Given the description of an element on the screen output the (x, y) to click on. 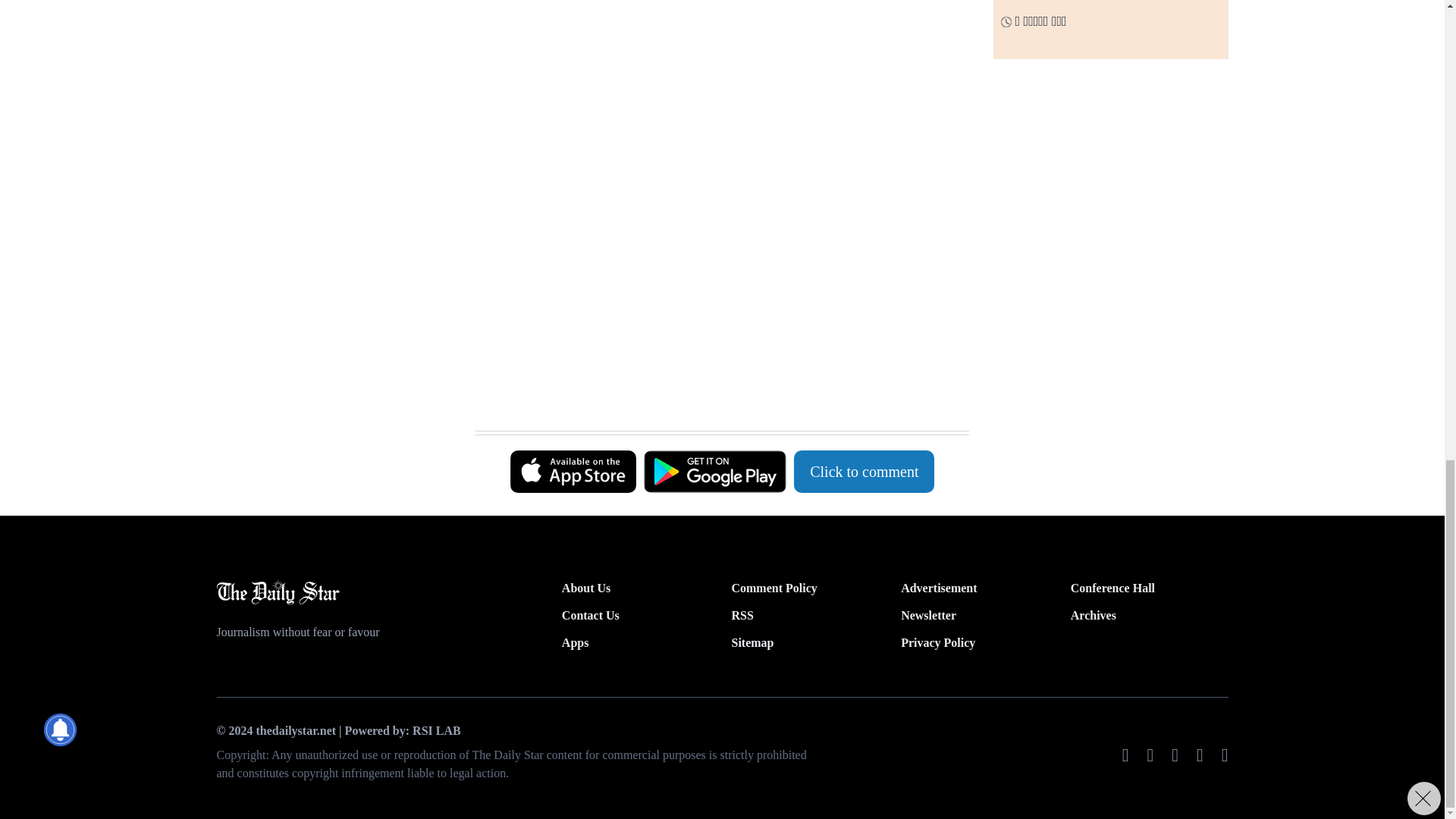
3rd party ad content (714, 392)
3rd party ad content (713, 71)
3rd party ad content (713, 252)
